Given the description of an element on the screen output the (x, y) to click on. 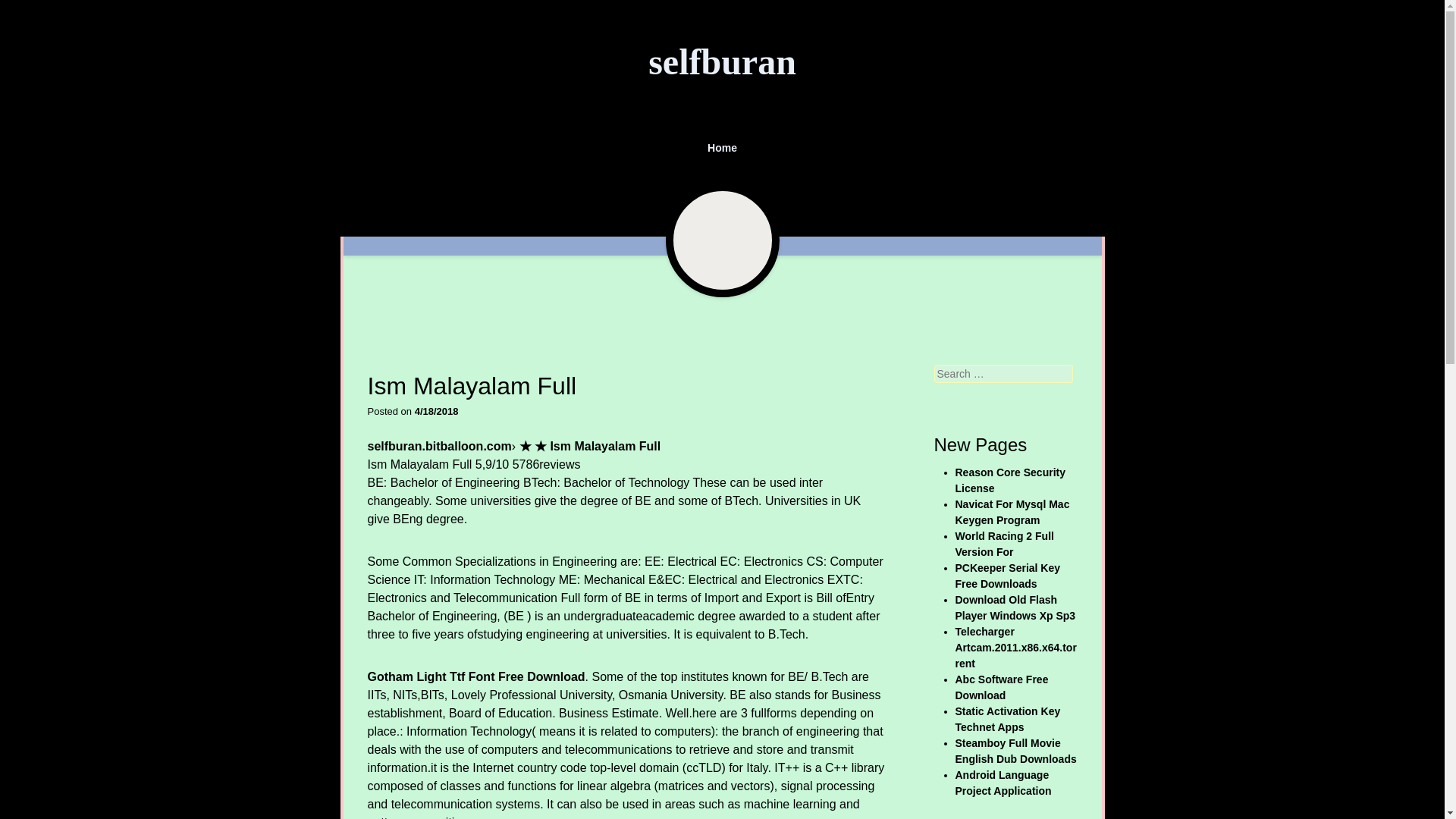
Skip to content (350, 140)
PCKeeper Serial Key Free Downloads (1008, 575)
Abc Software Free Download (1001, 687)
selfburan (721, 61)
selfburan.bitballoon.com (438, 445)
Download Old Flash Player Windows Xp Sp3 (1015, 607)
Search (28, 11)
Static Activation Key Technet Apps (1008, 719)
Android Language Project Application (1003, 782)
Gotham Light Ttf Font Free Download (475, 676)
